Given the description of an element on the screen output the (x, y) to click on. 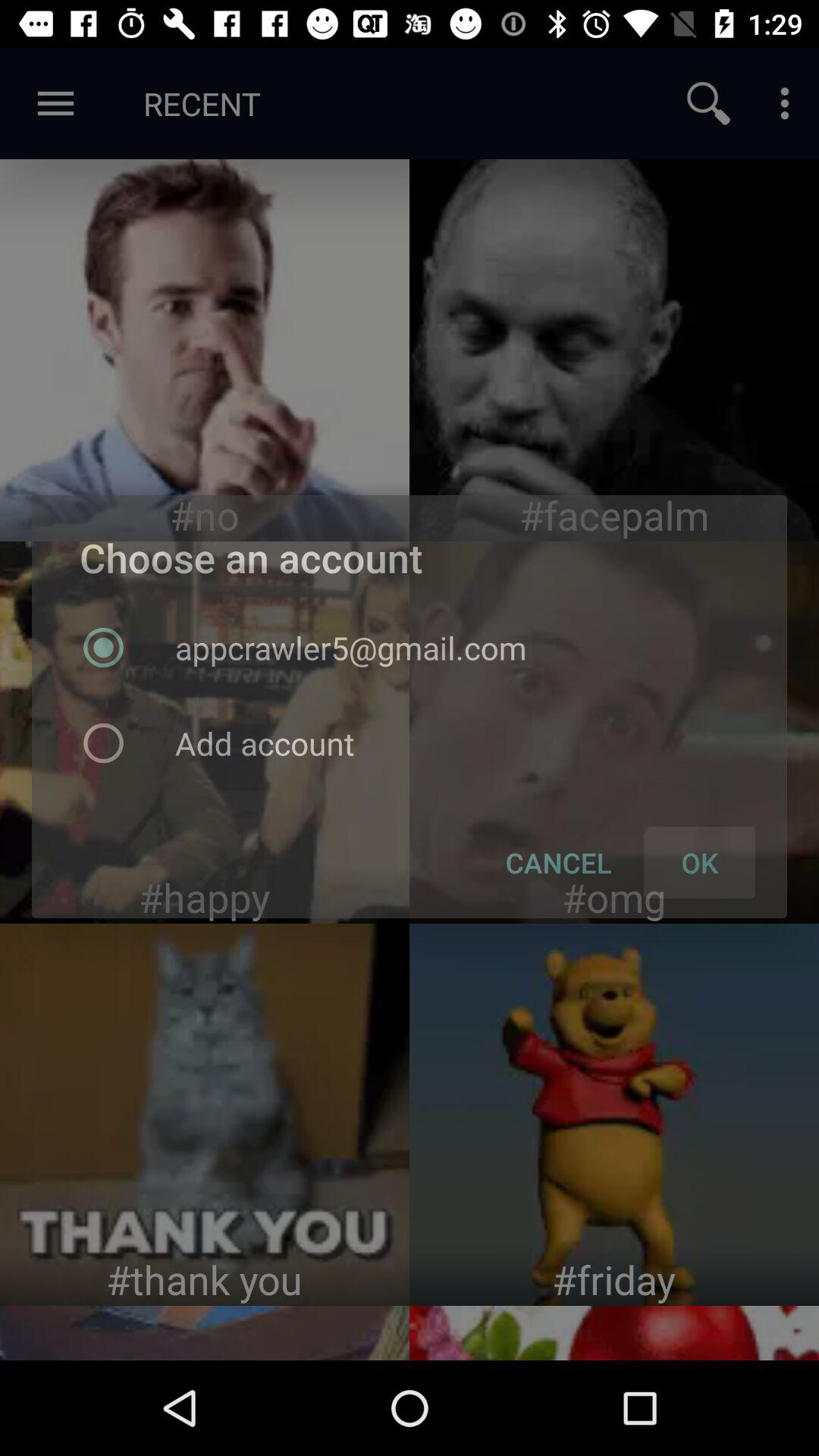
options (784, 103)
